Given the description of an element on the screen output the (x, y) to click on. 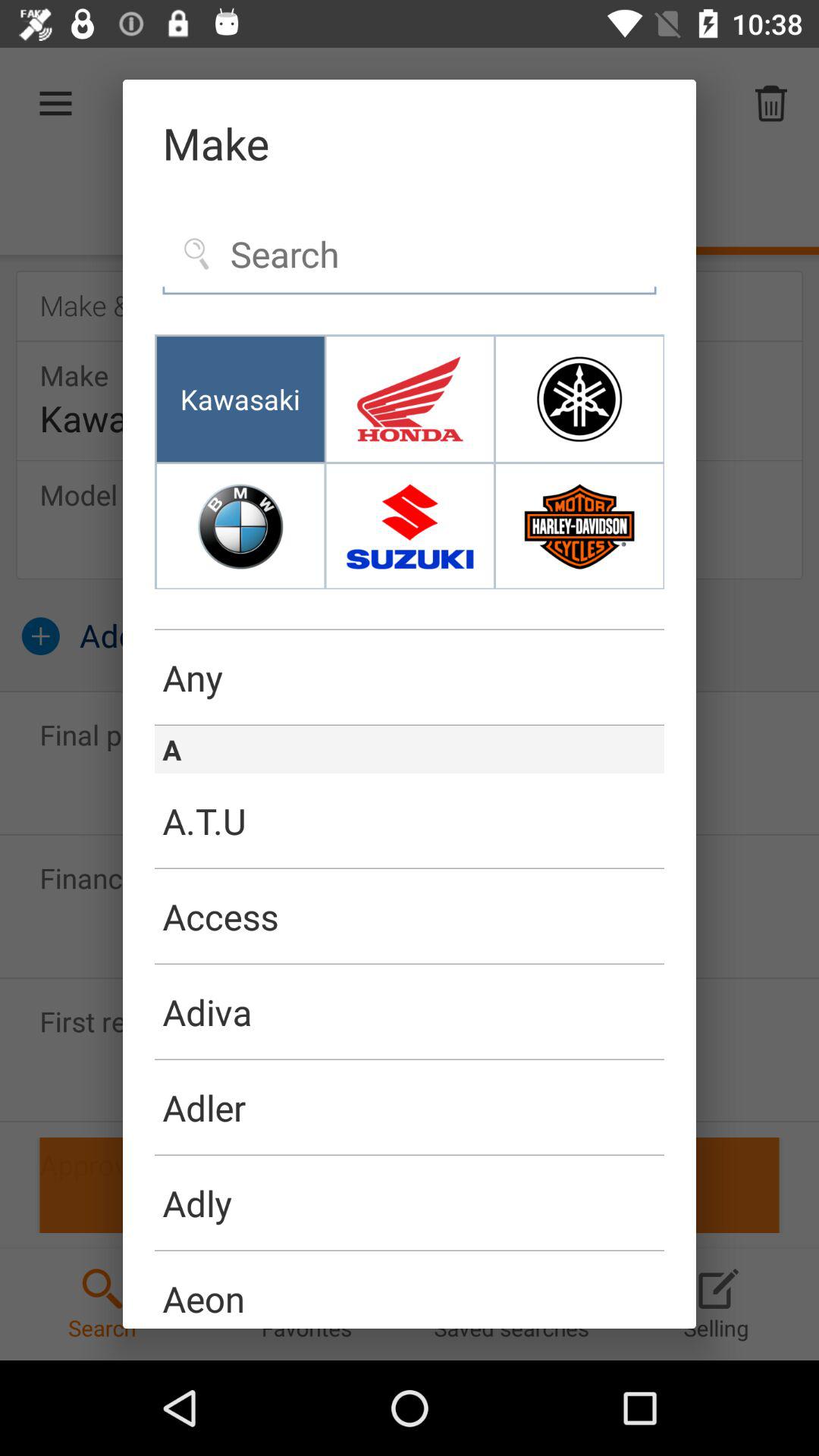
turn on the icon above the adly icon (409, 1154)
